Given the description of an element on the screen output the (x, y) to click on. 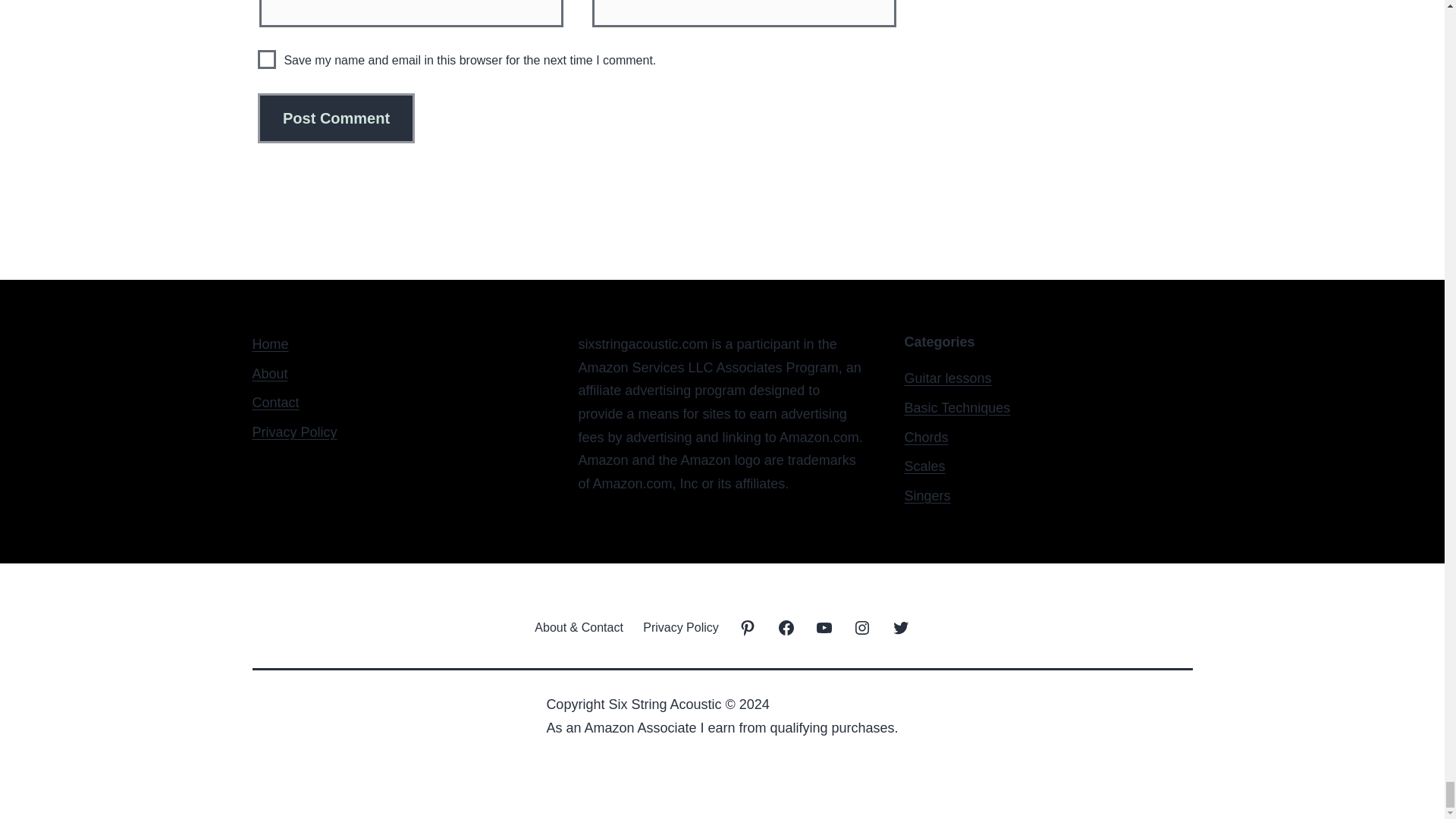
yes (266, 58)
Post Comment (335, 118)
